Given the description of an element on the screen output the (x, y) to click on. 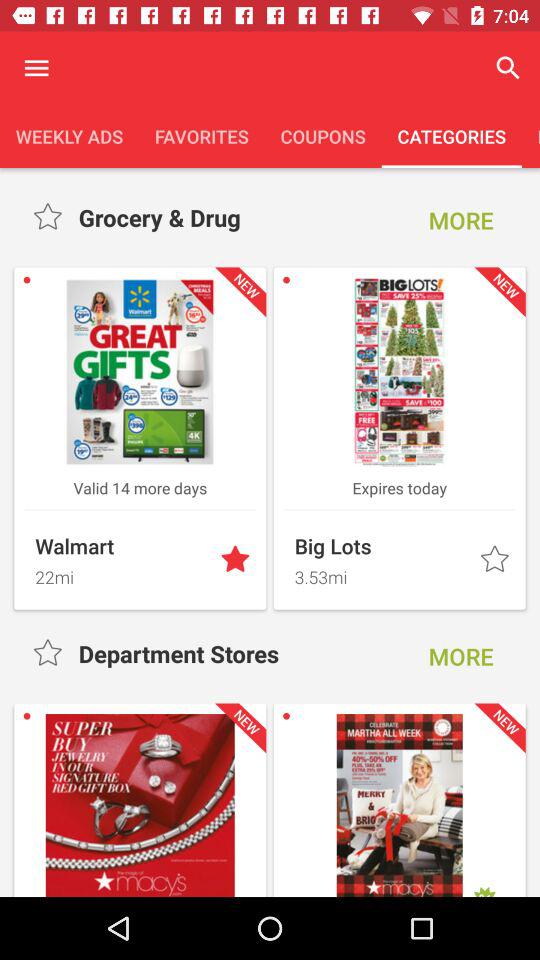
click the item above the weekly ads icon (36, 68)
